Given the description of an element on the screen output the (x, y) to click on. 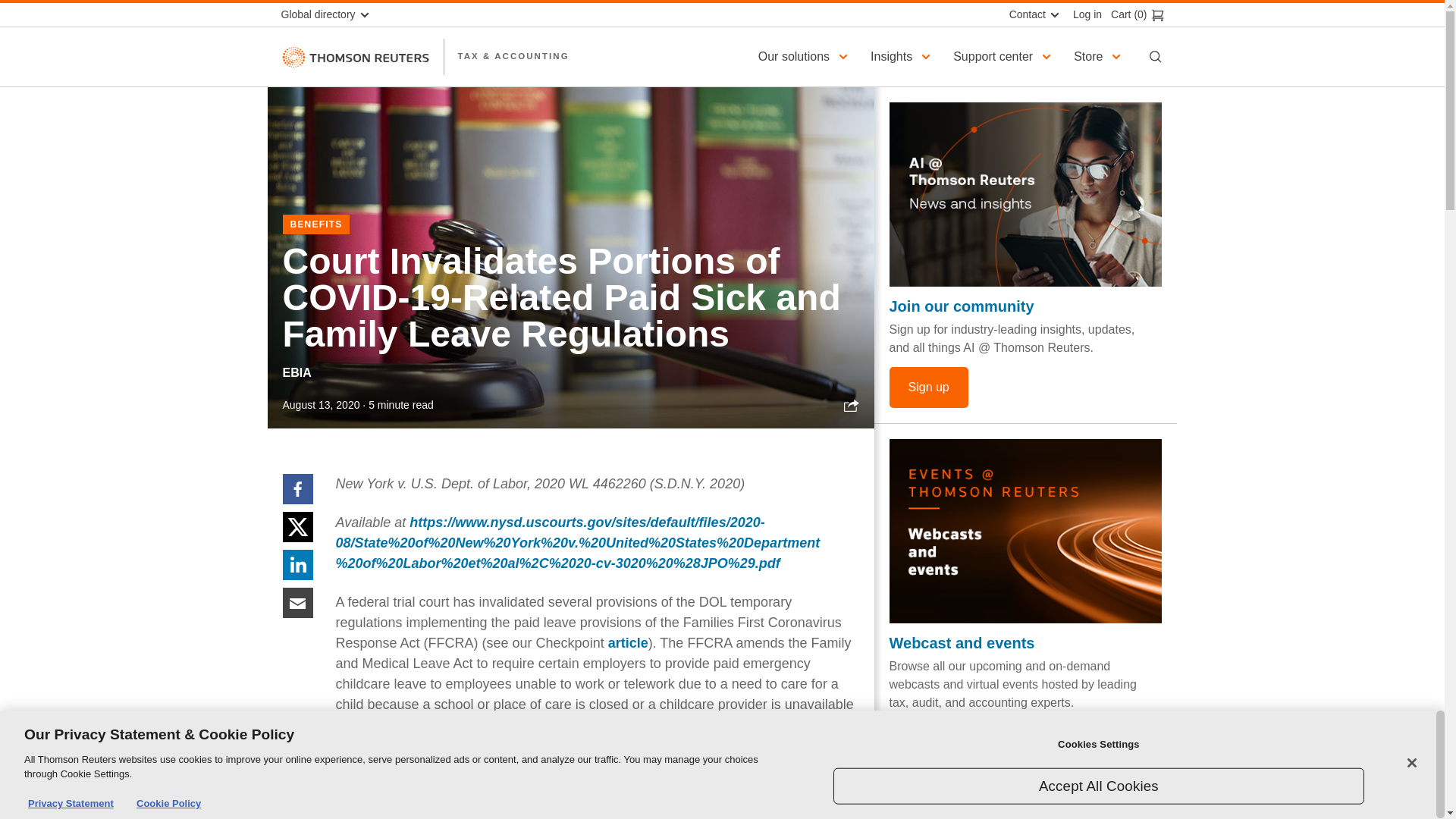
August 13, 2020 (320, 404)
Twitter (297, 525)
Linkedin (297, 563)
Log in (1083, 14)
Contact (1032, 14)
Thomson Reuters (355, 56)
Our solutions (805, 56)
Global directory (331, 14)
Facebook (297, 487)
Email (297, 601)
